Given the description of an element on the screen output the (x, y) to click on. 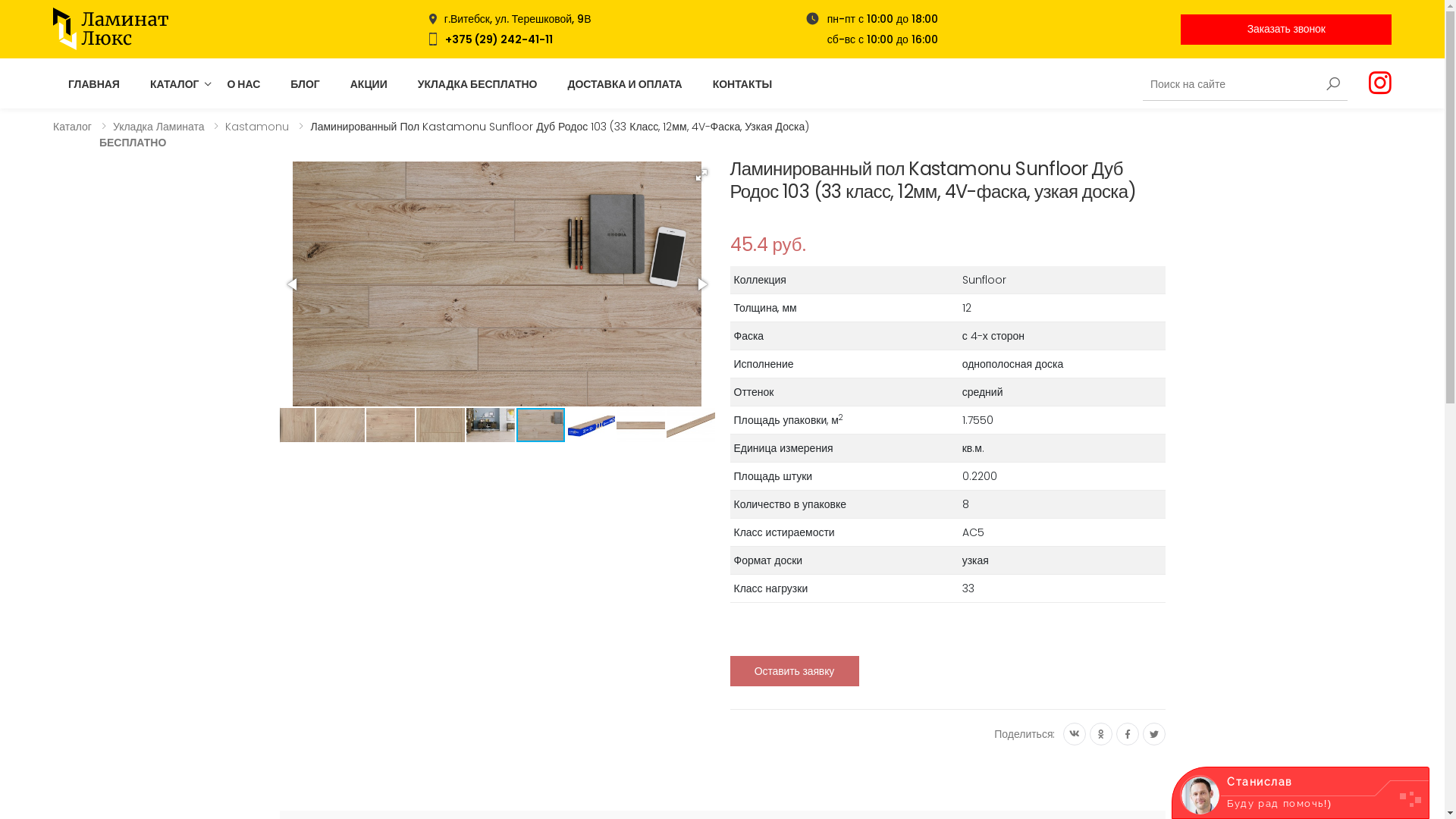
Instagram Element type: hover (1379, 83)
vk Element type: hover (1074, 733)
Facebook Element type: hover (1127, 733)
ok Element type: hover (1099, 733)
+375 (29) 242-41-11 Element type: text (498, 38)
Twitter Element type: hover (1153, 733)
Kastamonu Element type: text (256, 126)
